Given the description of an element on the screen output the (x, y) to click on. 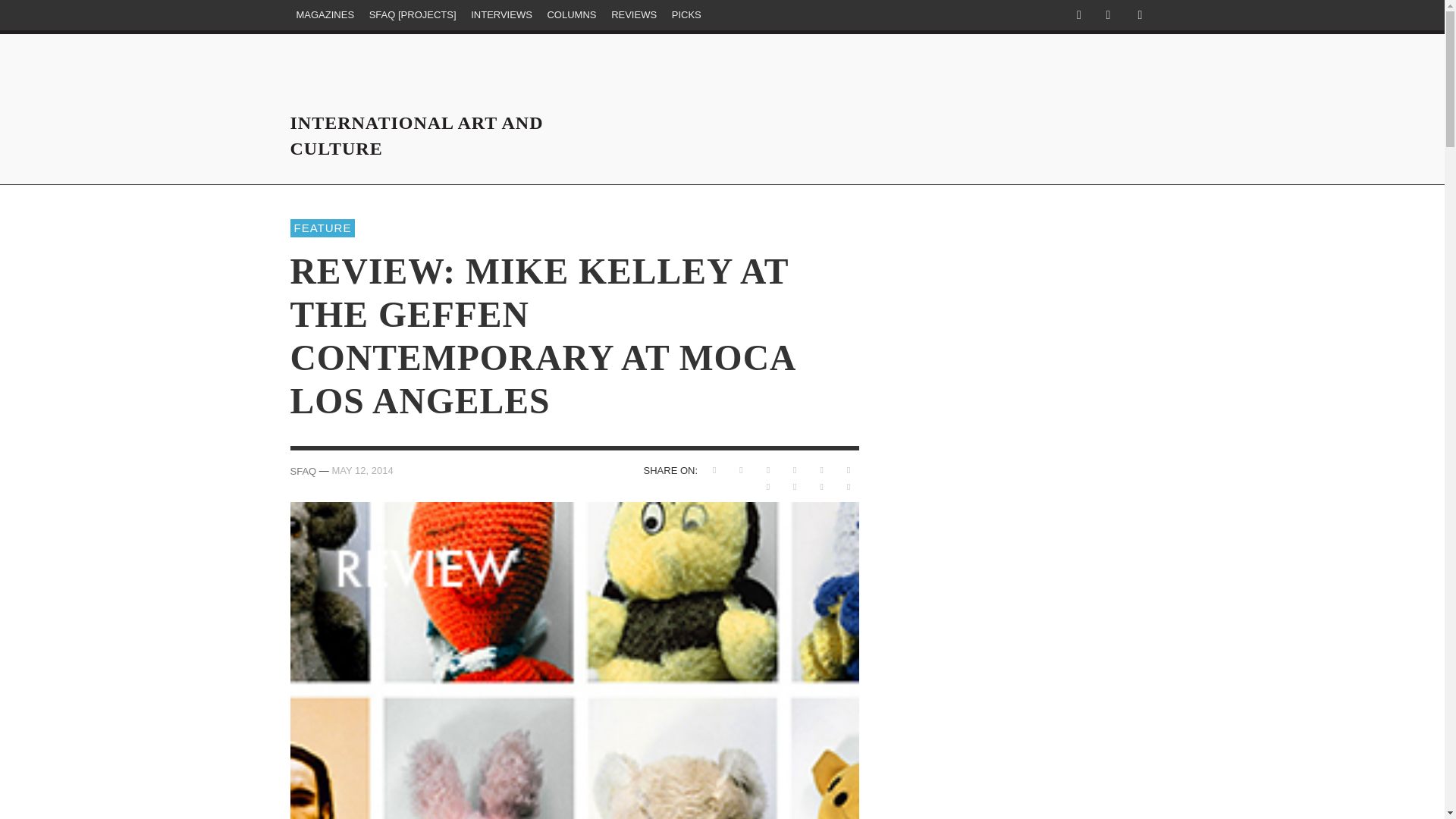
Facebook (1078, 15)
COLUMNS (571, 15)
INTERVIEWS (501, 15)
Twitter (1107, 15)
MAGAZINES (324, 15)
